Given the description of an element on the screen output the (x, y) to click on. 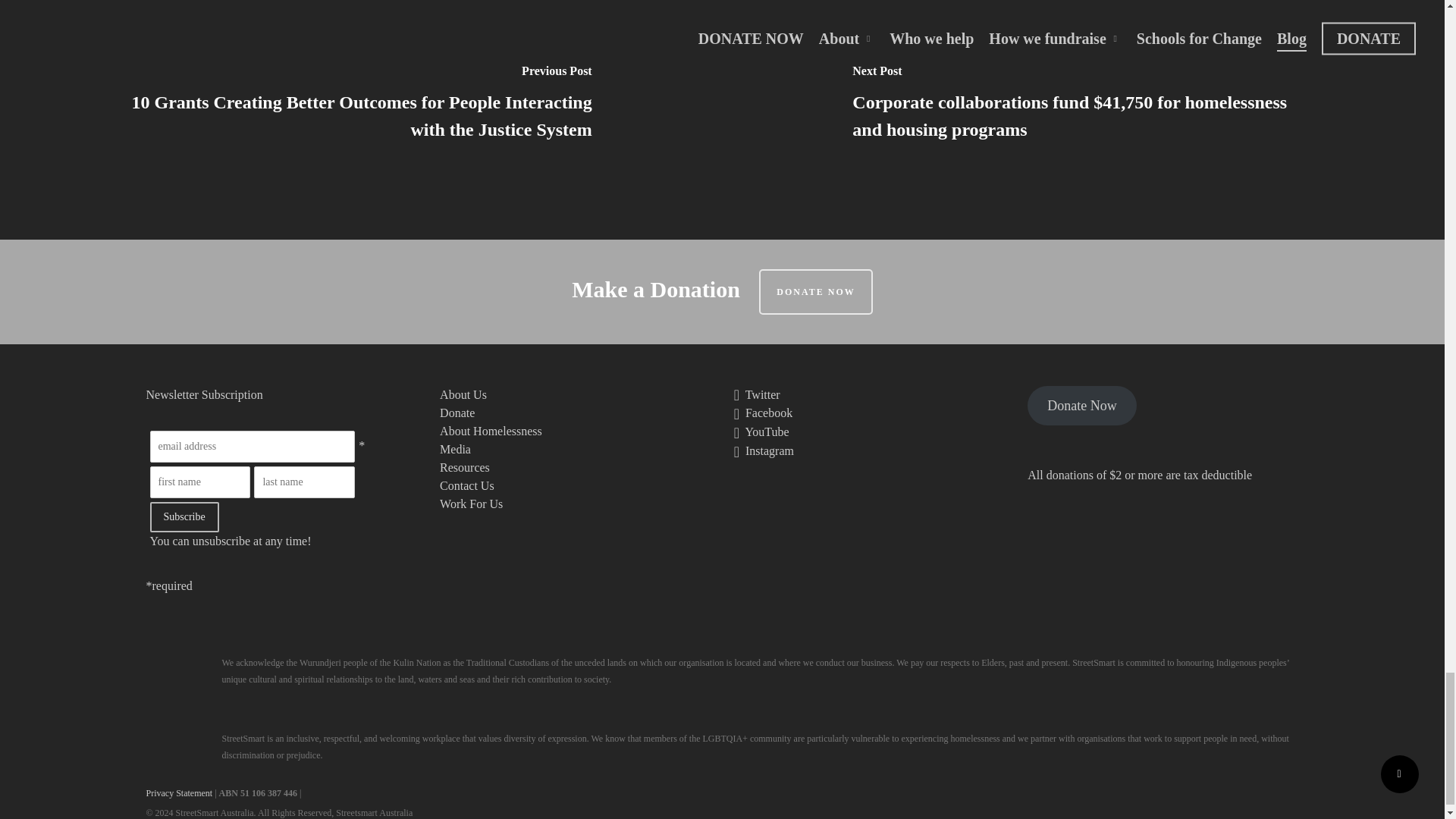
Subscribe (184, 517)
